Given the description of an element on the screen output the (x, y) to click on. 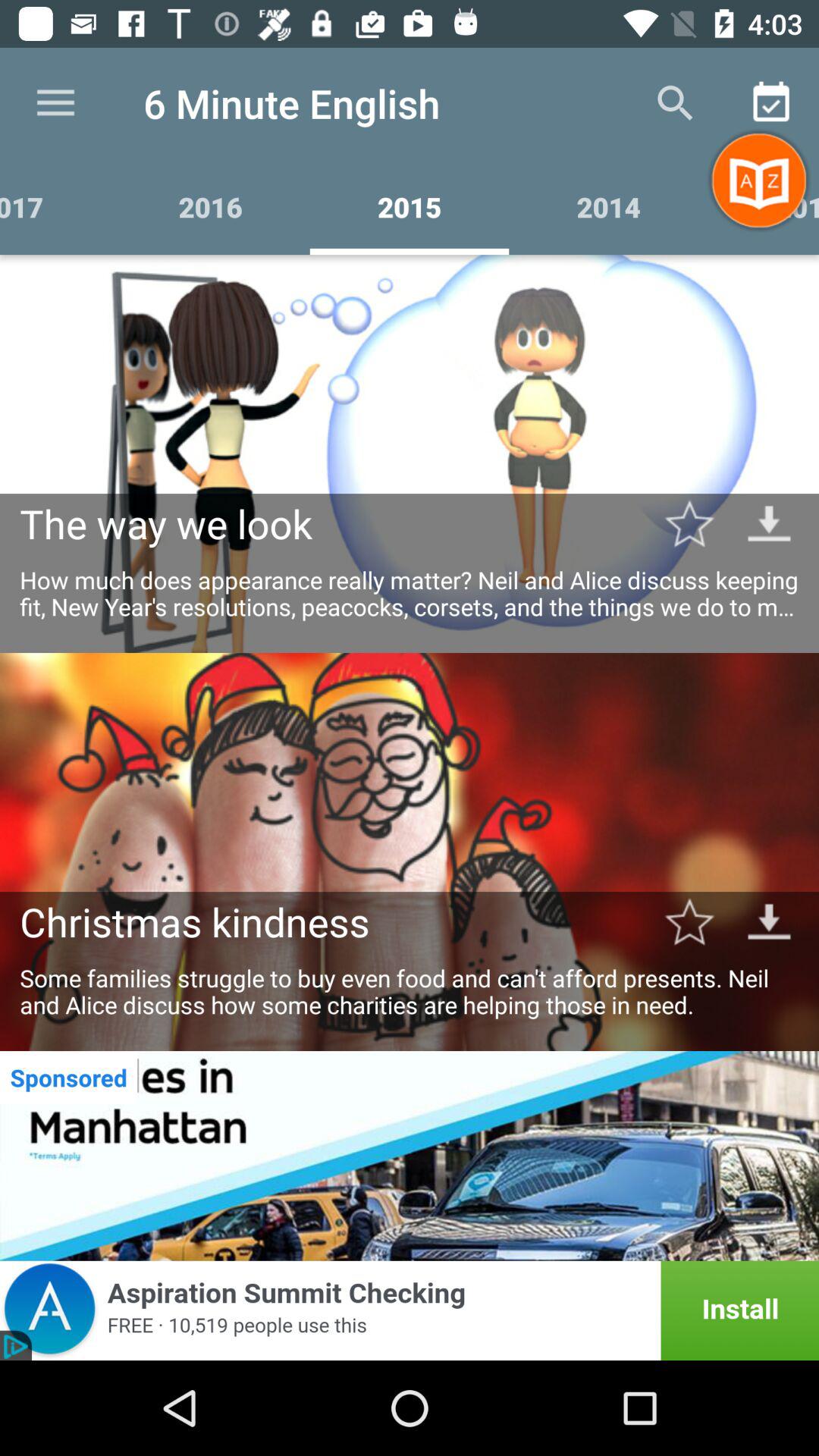
download christmas kindness (769, 921)
